Given the description of an element on the screen output the (x, y) to click on. 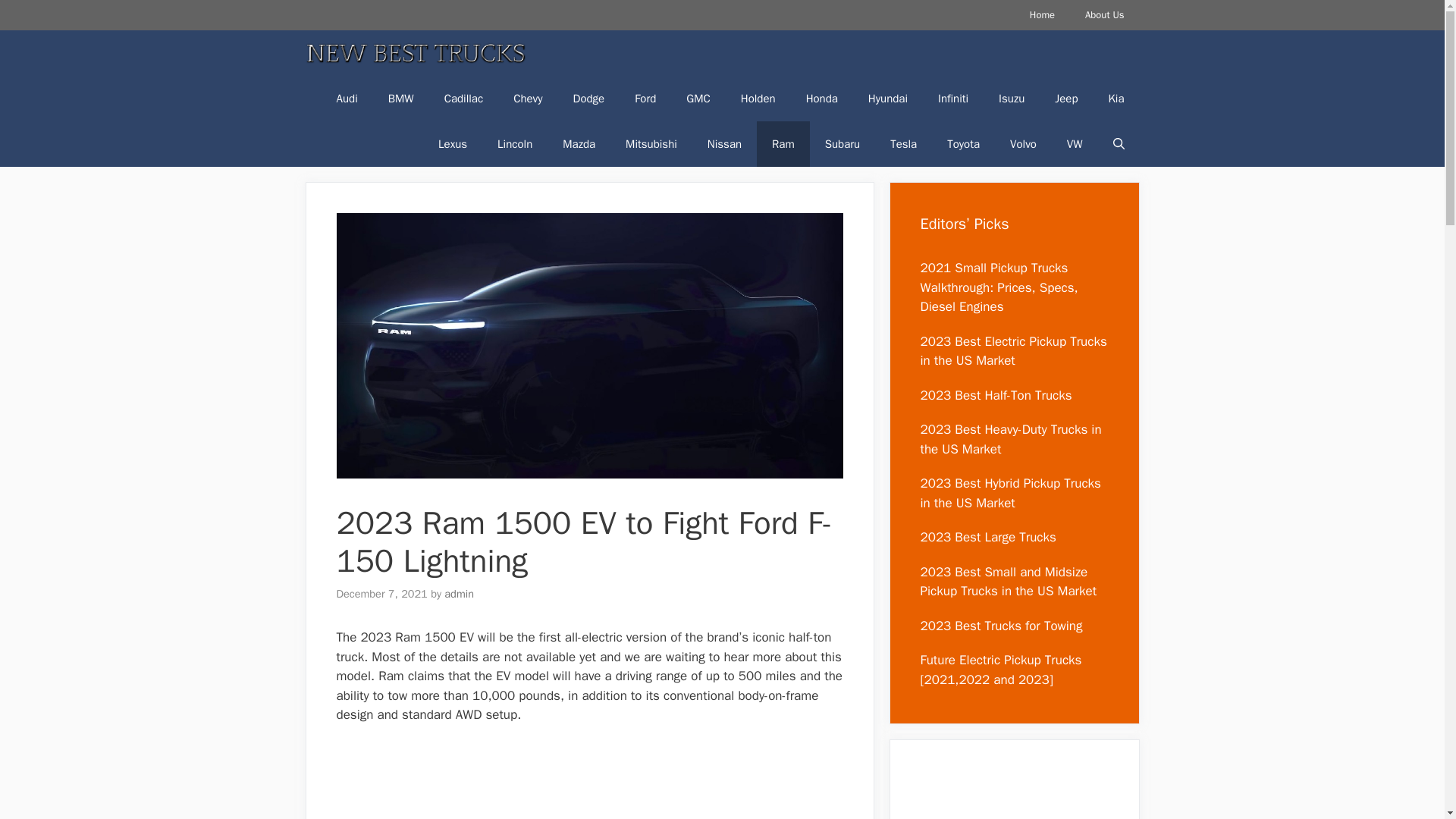
Advertisement (1014, 794)
Honda (821, 98)
About Us (1104, 15)
Audi (346, 98)
Kia (1116, 98)
Jeep (1066, 98)
Lexus (452, 144)
Ford (645, 98)
Dodge (588, 98)
Mazda (578, 144)
Mitsubishi (651, 144)
Tesla (903, 144)
Advertisement (589, 781)
BMW (400, 98)
Ram (783, 144)
